Given the description of an element on the screen output the (x, y) to click on. 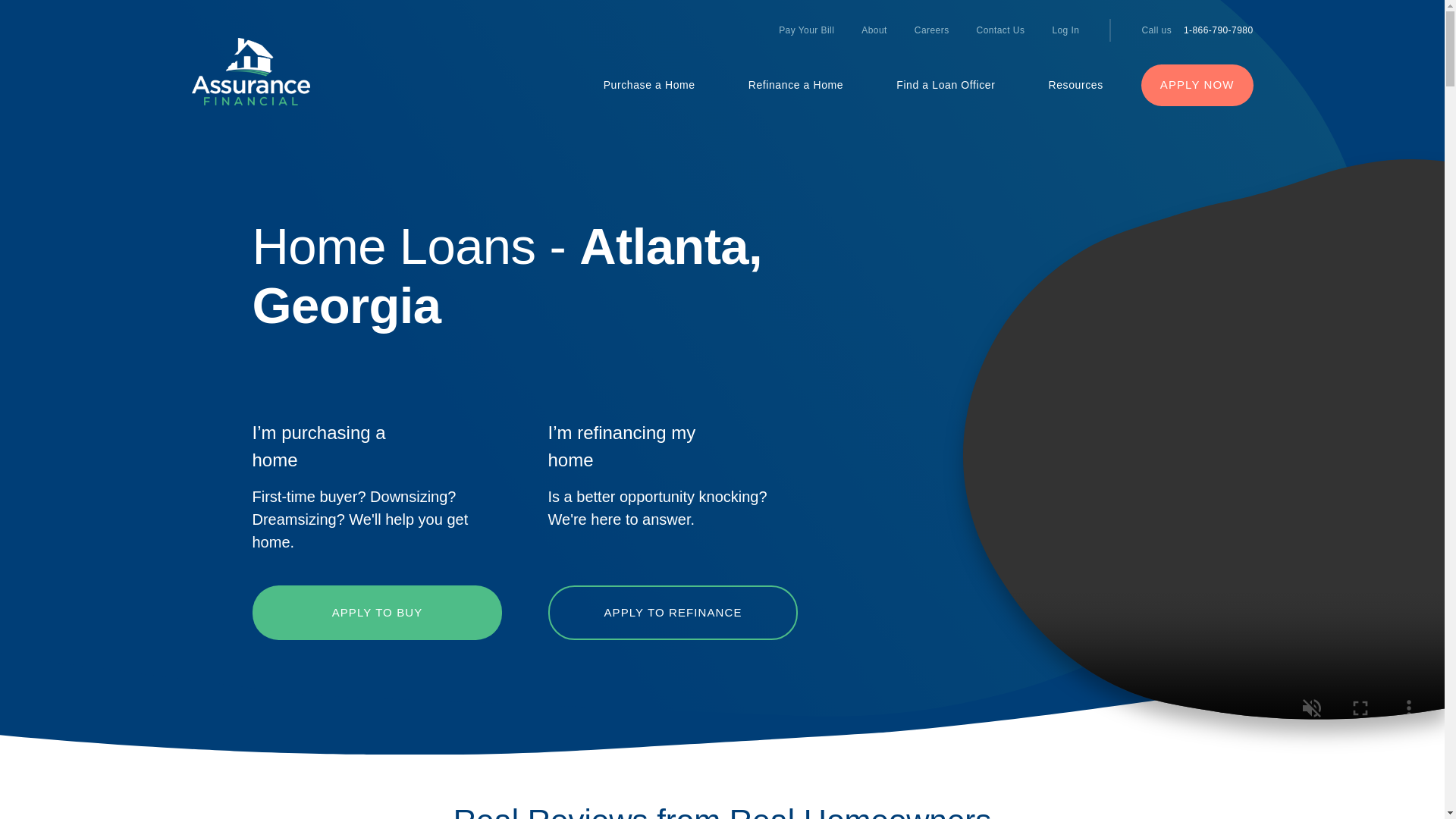
Pay Your Bill (806, 29)
Careers (931, 29)
APPLY NOW (1197, 85)
Contact Us (1000, 29)
Resources (1062, 84)
Purchase a Home (649, 84)
Log In (1058, 29)
About (874, 29)
Find a Loan Officer (945, 84)
APPLY TO BUY (376, 612)
